Given the description of an element on the screen output the (x, y) to click on. 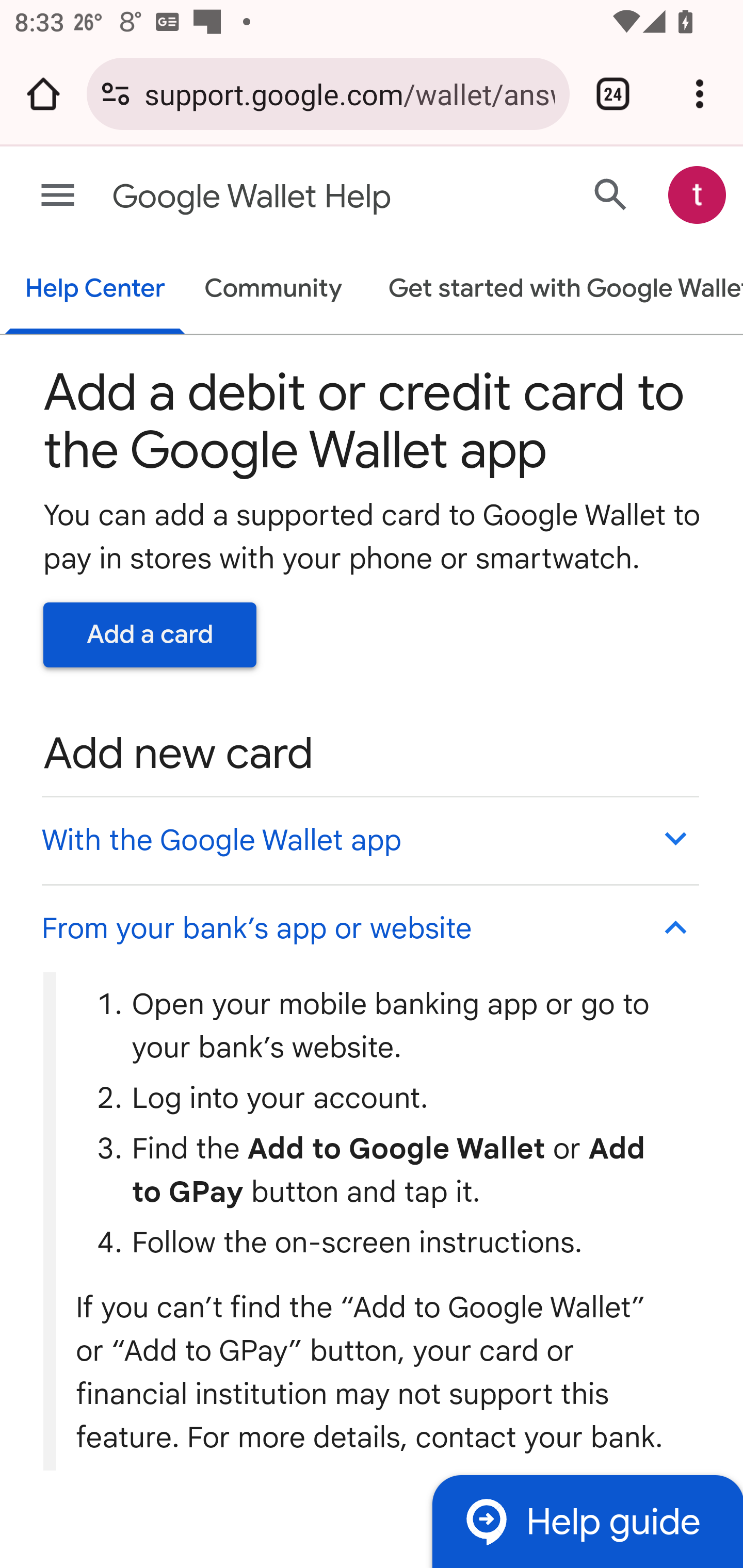
Open the home page (43, 93)
Connection is secure (115, 93)
Switch or close tabs (612, 93)
Customize and control Google Chrome (699, 93)
Main menu (58, 195)
Google Wallet Help (292, 197)
Search Help Center (611, 194)
Help Center (94, 289)
Community (273, 289)
Get started with Google Wallet (555, 289)
Add a card (150, 633)
With the Google Wallet app (369, 839)
From your bank’s app or website (369, 927)
Help guide (587, 1520)
